Given the description of an element on the screen output the (x, y) to click on. 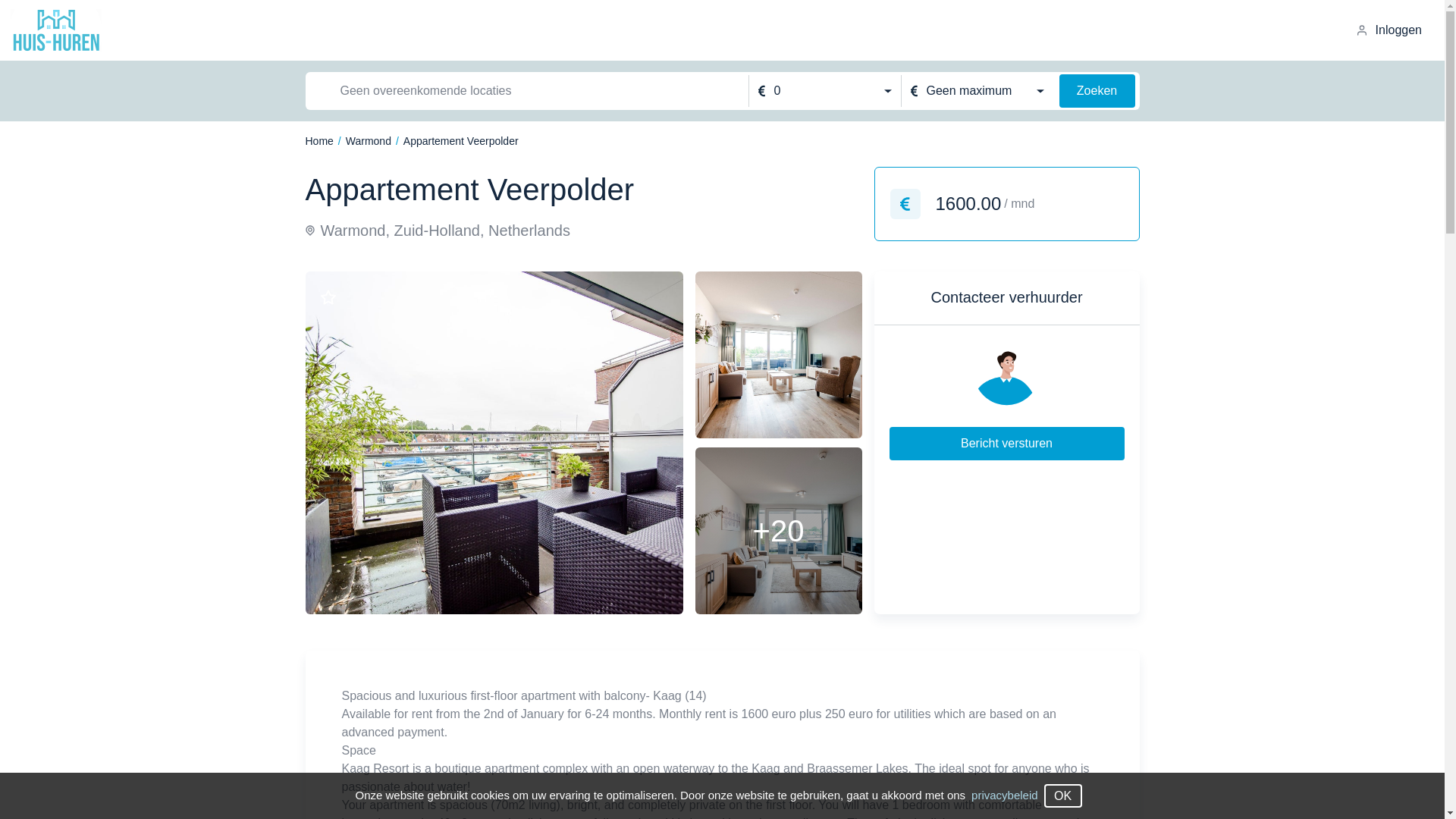
OK (1062, 795)
Bericht versturen (1006, 443)
Warmond (368, 141)
Appartement Veerpolder (460, 141)
Home (318, 141)
Zoeken (1096, 90)
privacybeleid (1004, 795)
